Given the description of an element on the screen output the (x, y) to click on. 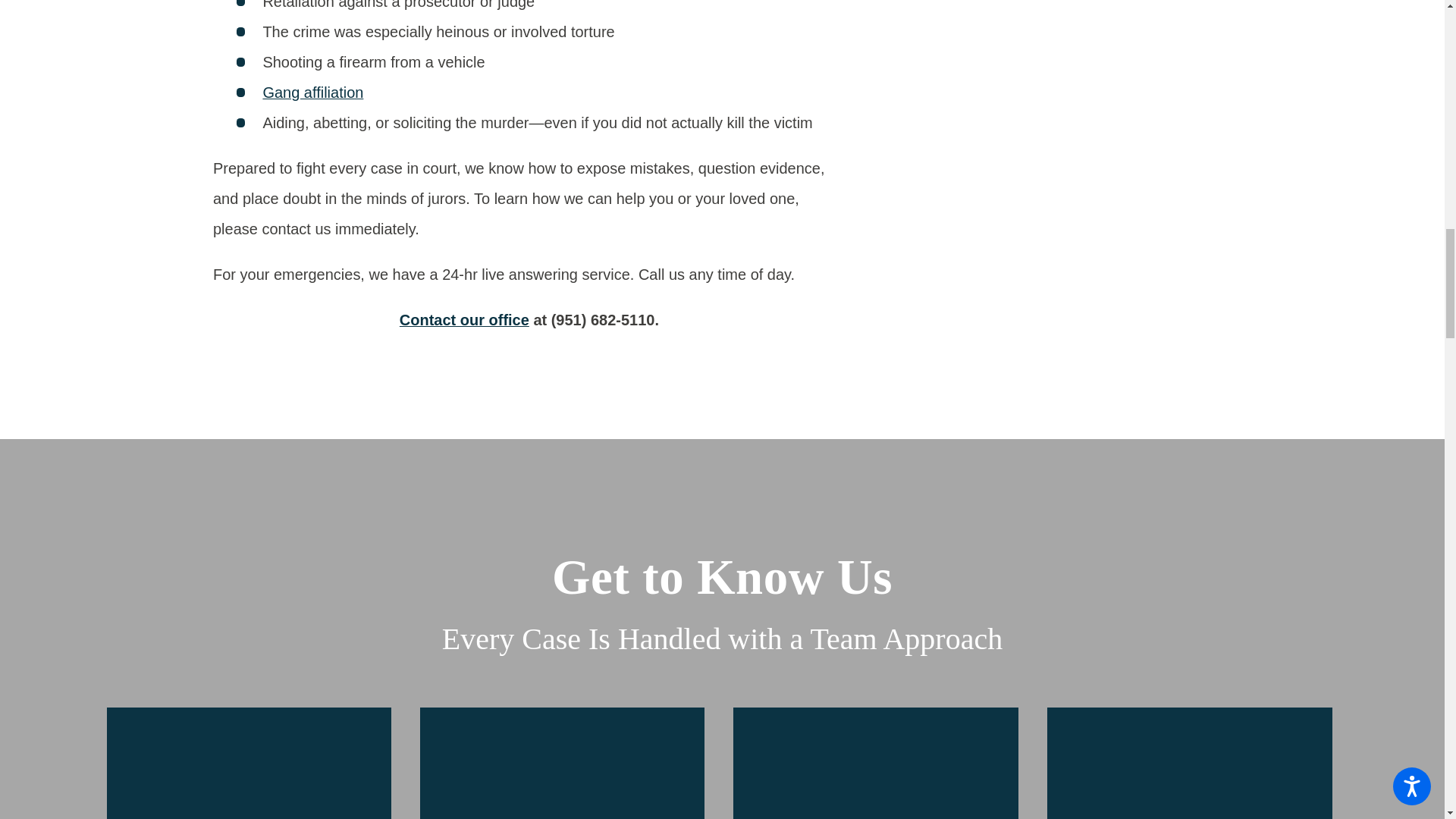
Virginia M. Blumenthal Page (248, 762)
Heather A. Green Photo (875, 762)
Brent F. Romney Page (1189, 762)
Virginia M. Blumenthal Photo (247, 762)
Heather A. Green Page (875, 762)
Jeff G. Moore Photo (562, 762)
Jeff G. Moore Page (562, 762)
